Given the description of an element on the screen output the (x, y) to click on. 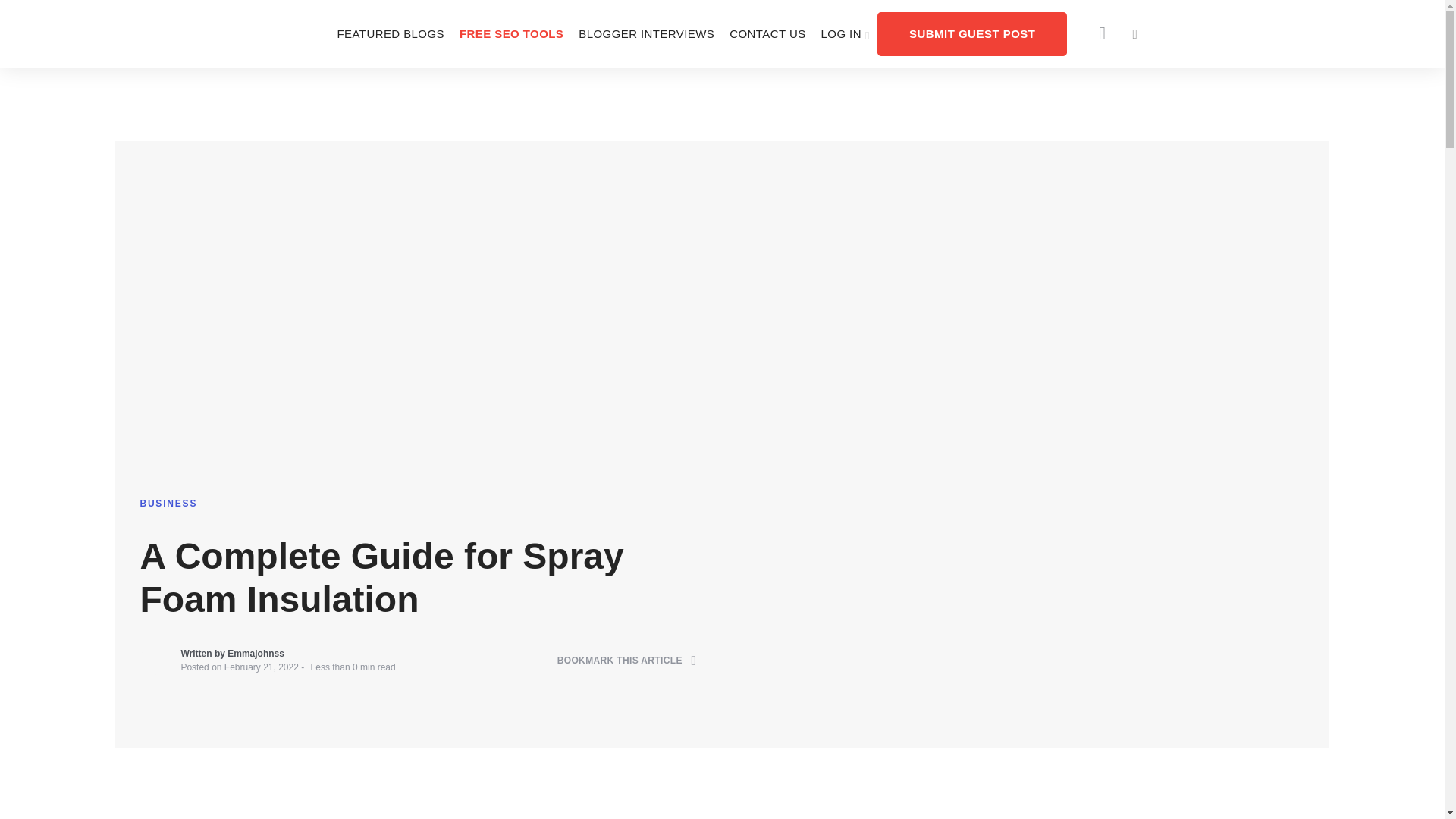
Emmajohnss (255, 653)
FREE SEO TOOLS (510, 33)
FREE SEO TOOLS (510, 33)
BUSINESS (167, 502)
BLOGGER INTERVIEWS (646, 33)
February 21, 2022 (261, 666)
SUBMIT GUEST POST (972, 33)
SUBMIT GUEST POST (972, 33)
CONTACT US (767, 33)
BOOKMARK THIS ARTICLE (627, 660)
FEATURED BLOGS (390, 33)
LOG IN (845, 33)
CONTACT US (767, 33)
FEATURED BLOGS (390, 33)
BLOGGER INTERVIEWS (646, 33)
